Given the description of an element on the screen output the (x, y) to click on. 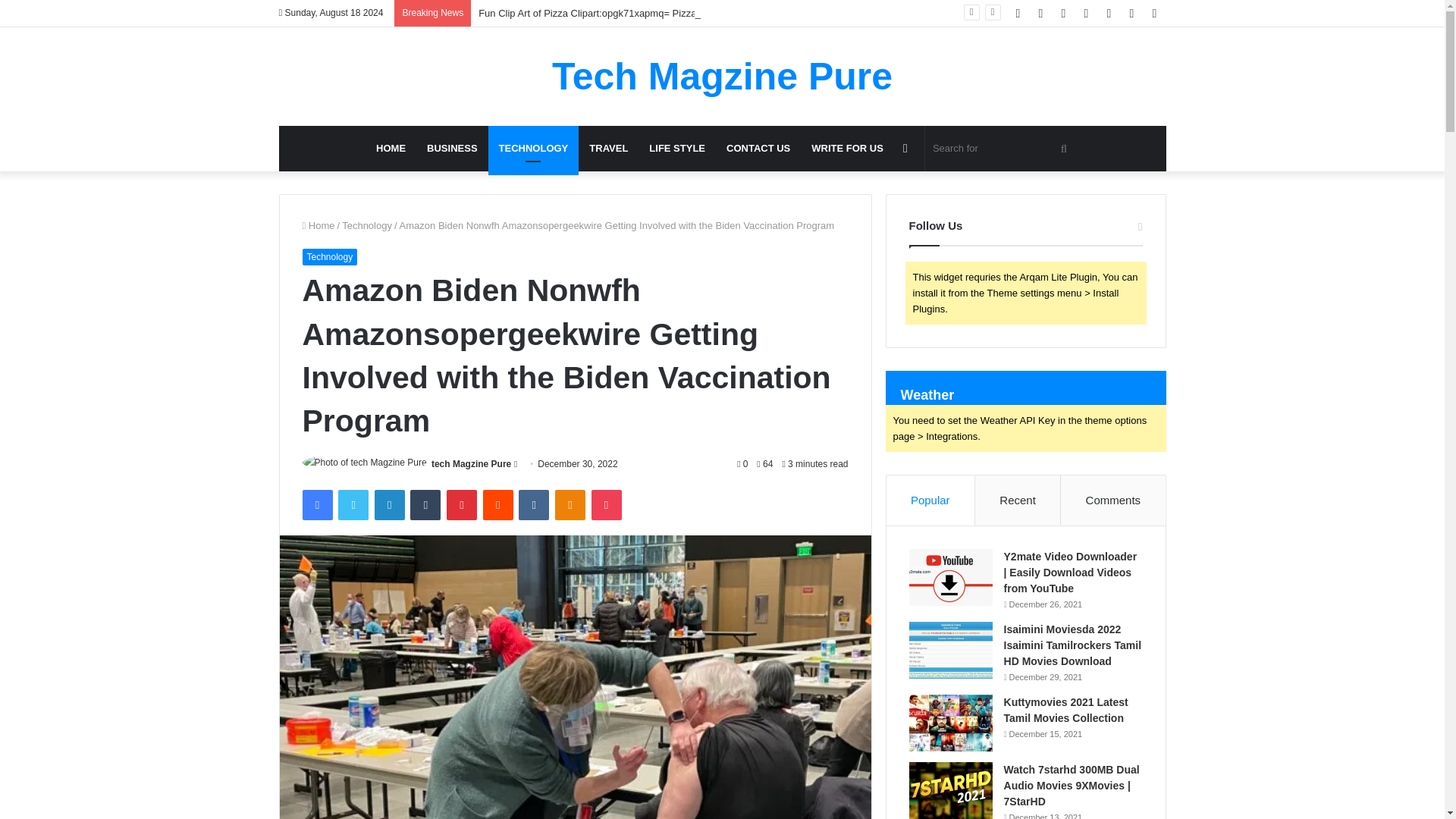
Technology (366, 225)
Twitter (352, 504)
Odnoklassniki (569, 504)
TECHNOLOGY (533, 148)
Pinterest (461, 504)
Tech Magzine Pure (721, 76)
Tumblr (425, 504)
TRAVEL (608, 148)
Reddit (498, 504)
Twitter (352, 504)
